Given the description of an element on the screen output the (x, y) to click on. 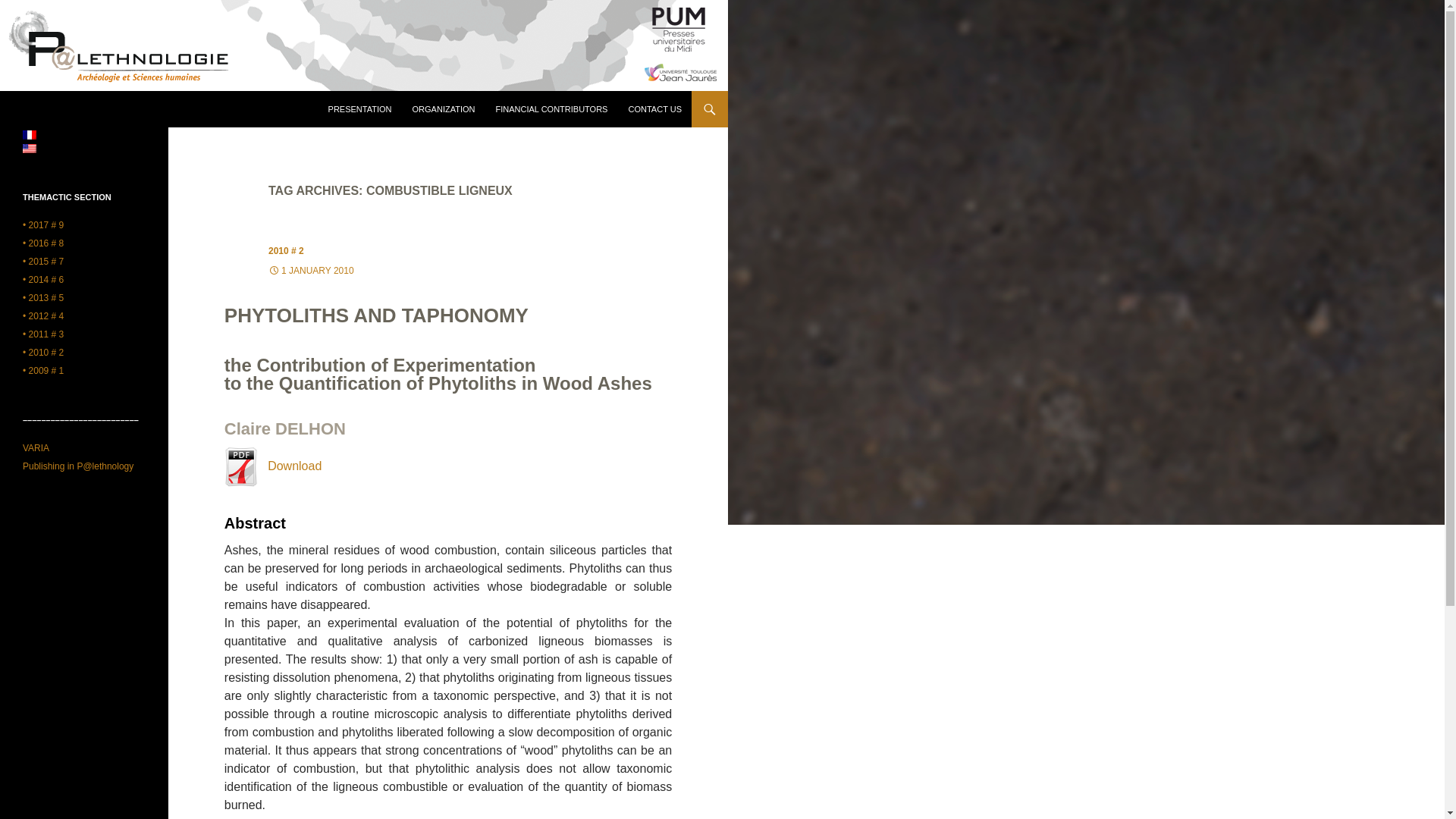
FINANCIAL CONTRIBUTORS (551, 108)
PRESENTATION (359, 108)
VARIA (36, 448)
   Download (272, 465)
CONTACT US (654, 108)
ORGANIZATION (443, 108)
PALETHNOLOGIE (81, 108)
1 JANUARY 2010 (310, 270)
